Given the description of an element on the screen output the (x, y) to click on. 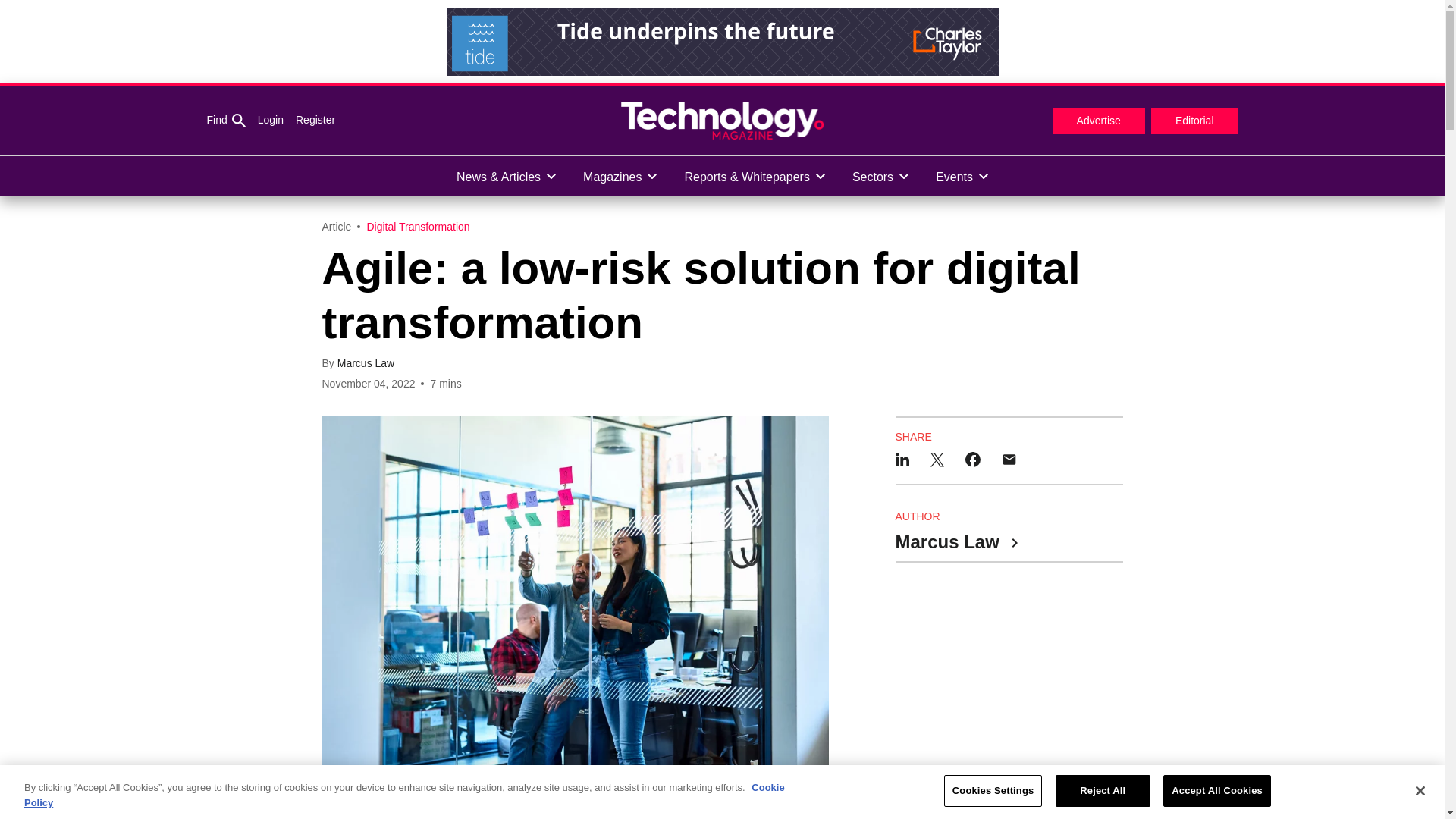
3rd party ad content (721, 41)
Login (270, 120)
Advertise (1098, 121)
Find (225, 120)
Register (308, 120)
Sectors (879, 175)
Editorial (1195, 121)
3rd party ad content (1008, 681)
Events (961, 175)
Magazines (619, 175)
